Given the description of an element on the screen output the (x, y) to click on. 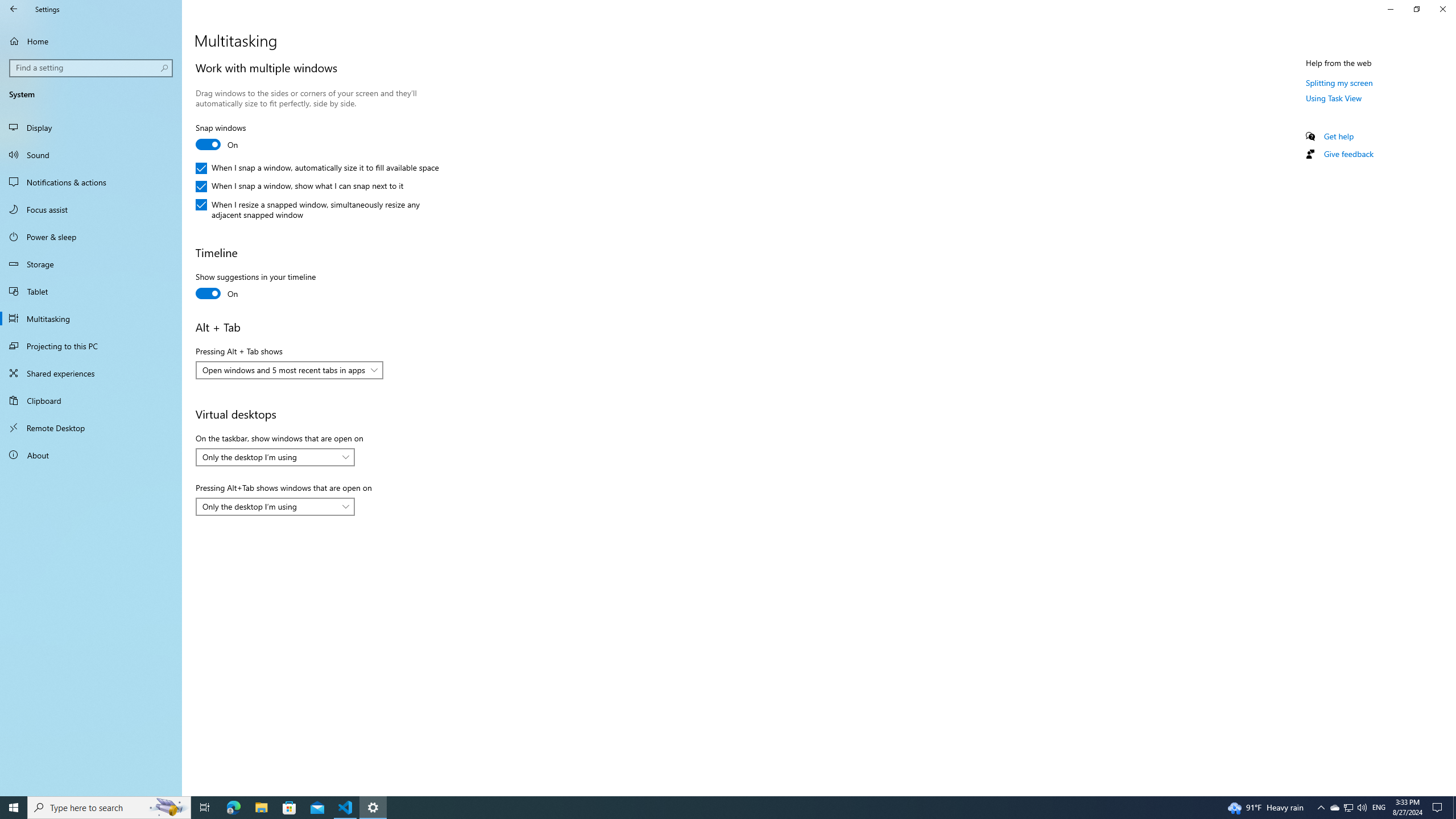
Minimize Settings (1390, 9)
Visual Studio Code - 1 running window (345, 807)
Start (13, 807)
Pressing Alt+Tab shows windows that are open on (1333, 807)
About (275, 506)
Storage (91, 454)
Projecting to this PC (91, 263)
Action Center, No new notifications (1347, 807)
Get help (91, 345)
Notifications & actions (1439, 807)
Restore Settings (1338, 136)
Clipboard (91, 181)
